Given the description of an element on the screen output the (x, y) to click on. 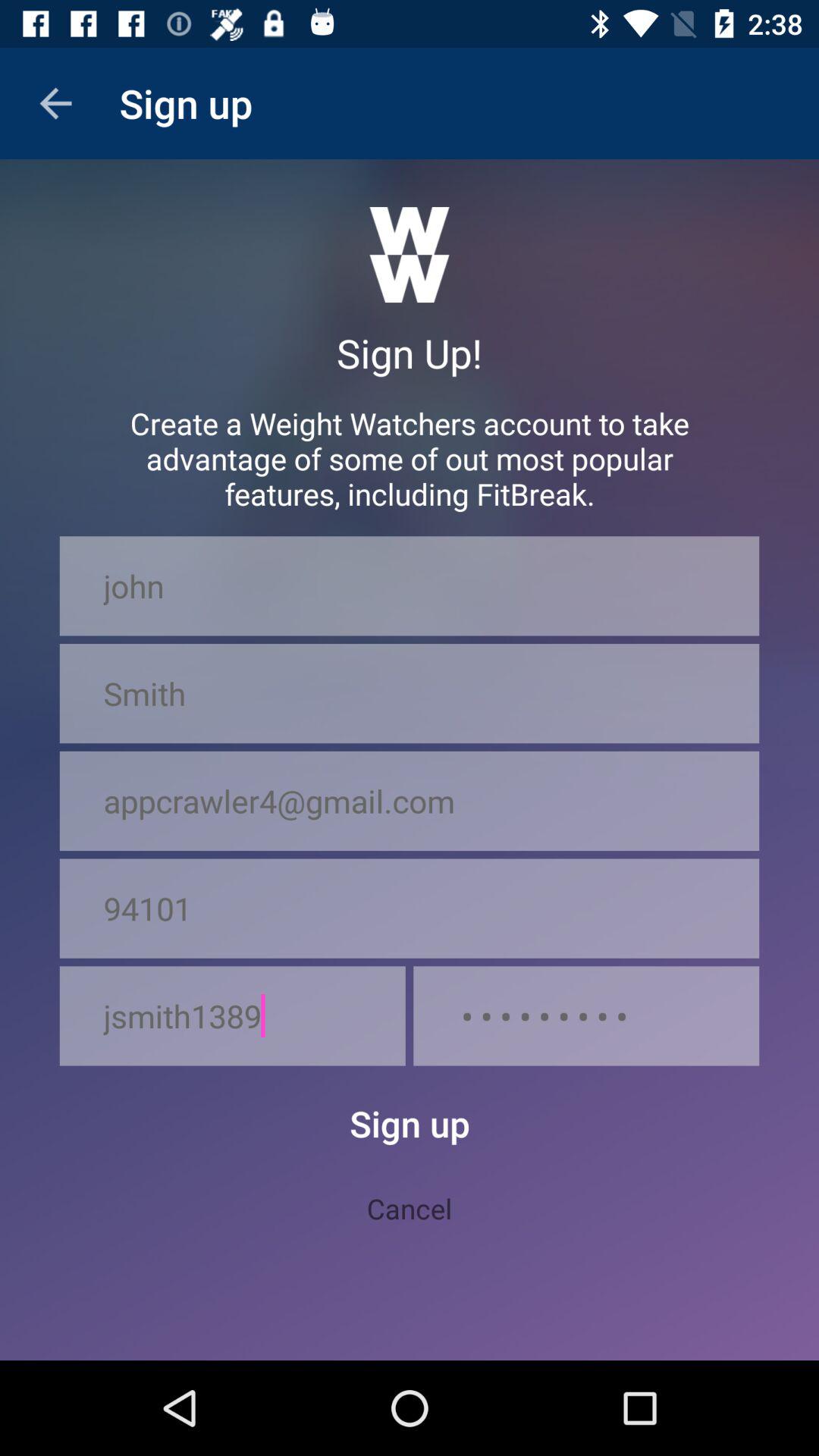
choose the smith item (409, 693)
